Given the description of an element on the screen output the (x, y) to click on. 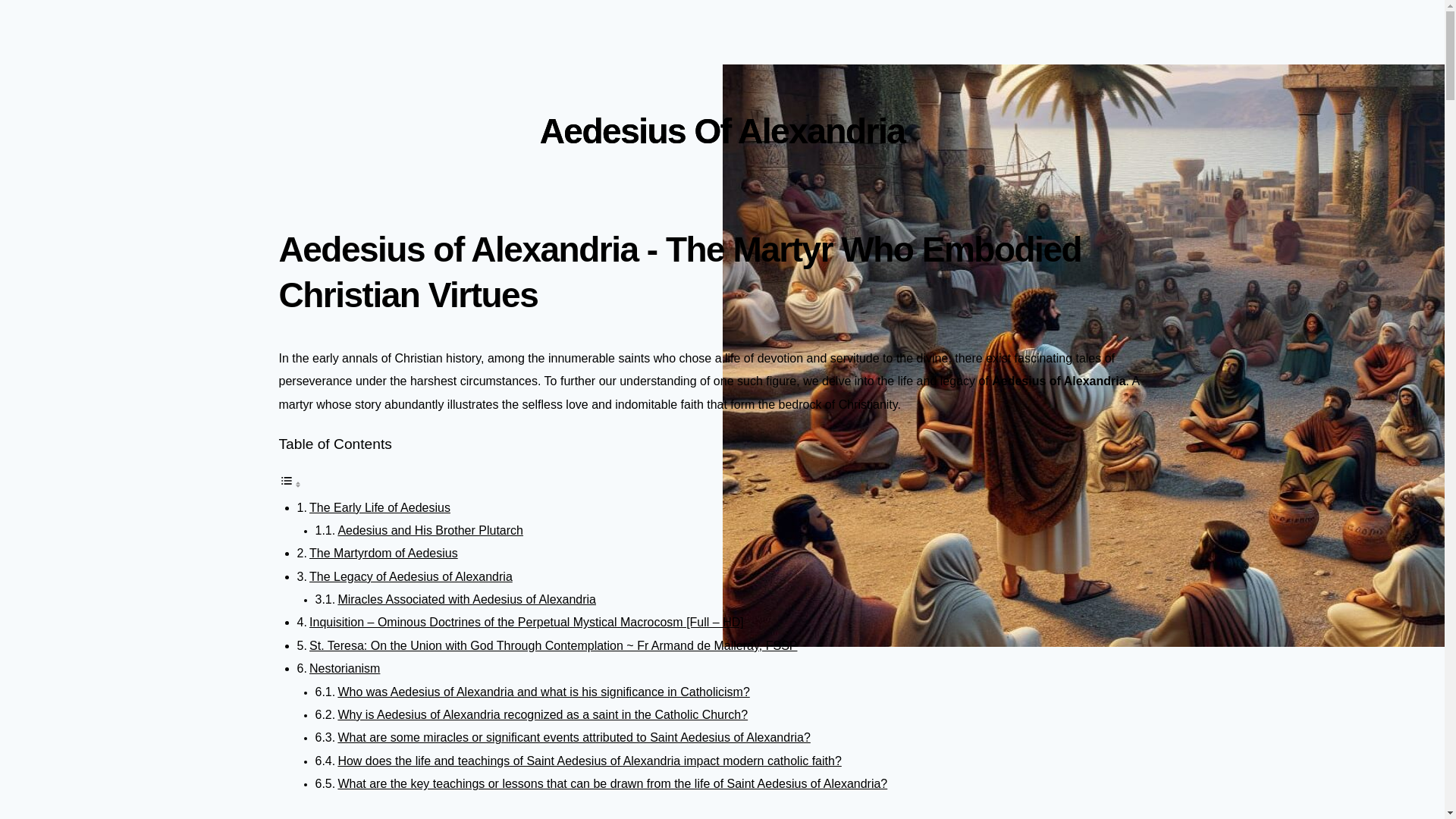
Aedesius and His Brother Plutarch (429, 530)
The Legacy of Aedesius of Alexandria (410, 576)
The Legacy of Aedesius of Alexandria (410, 576)
Nestorianism (344, 667)
Aedesius and His Brother Plutarch (429, 530)
The Early Life of Aedesius (378, 506)
The Martyrdom of Aedesius (383, 553)
